Given the description of an element on the screen output the (x, y) to click on. 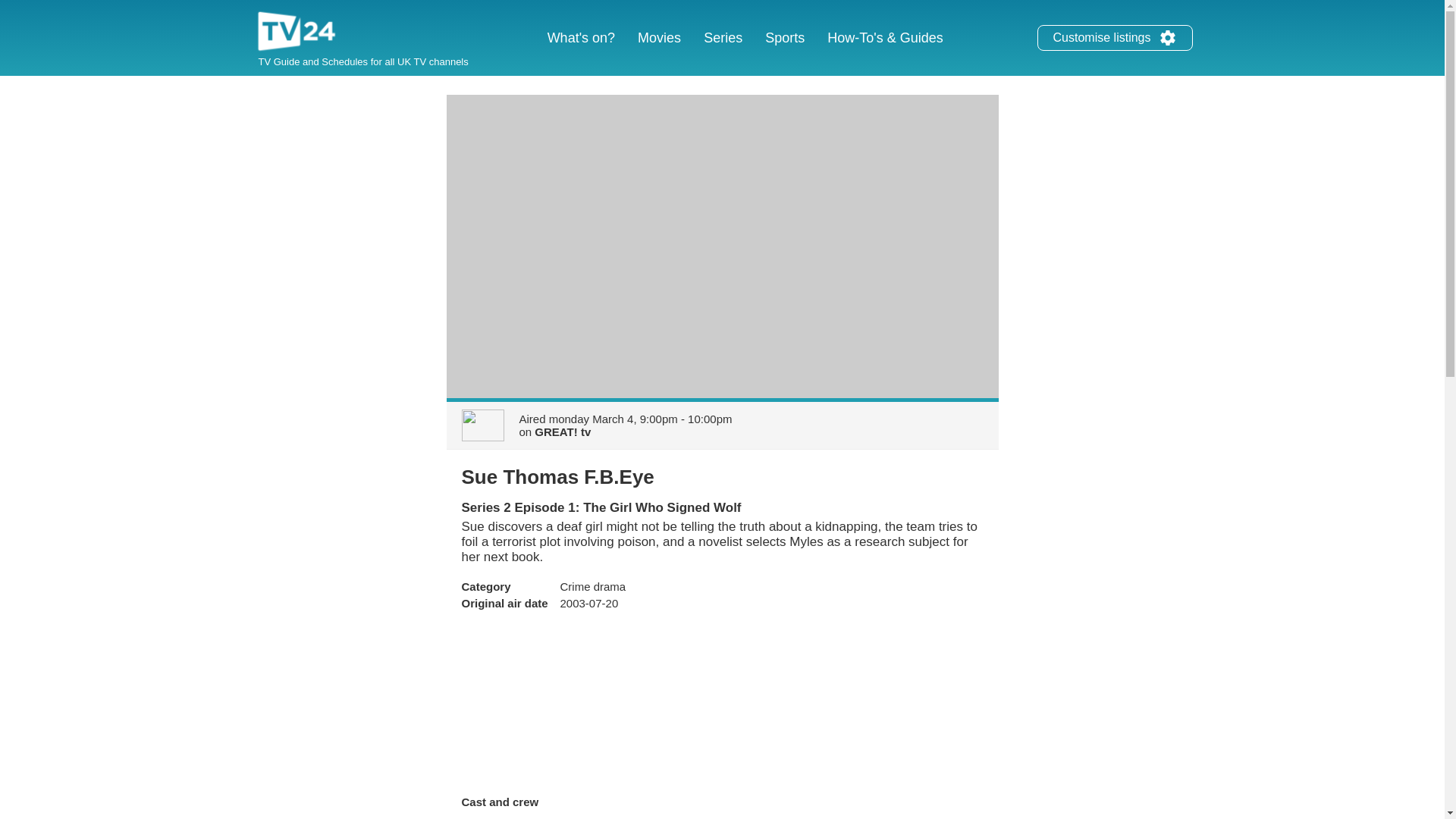
TV24.co.uk (296, 33)
GREAT! tv (562, 431)
Sports (784, 37)
Movies (658, 37)
Customise listings (1167, 37)
Series (722, 37)
What's on? (580, 37)
Customise listings (1114, 37)
